Given the description of an element on the screen output the (x, y) to click on. 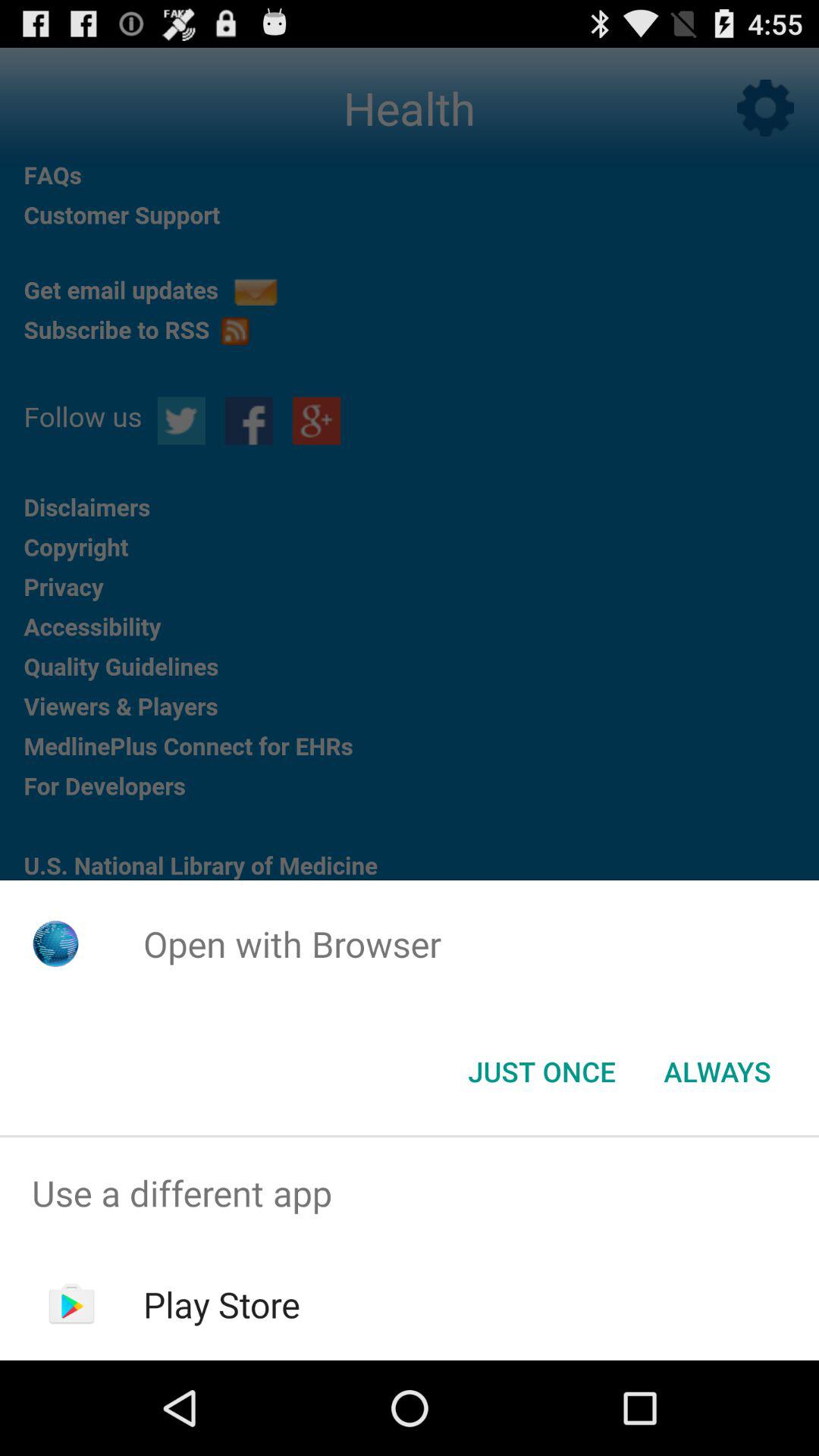
select the button to the left of the always (541, 1071)
